Given the description of an element on the screen output the (x, y) to click on. 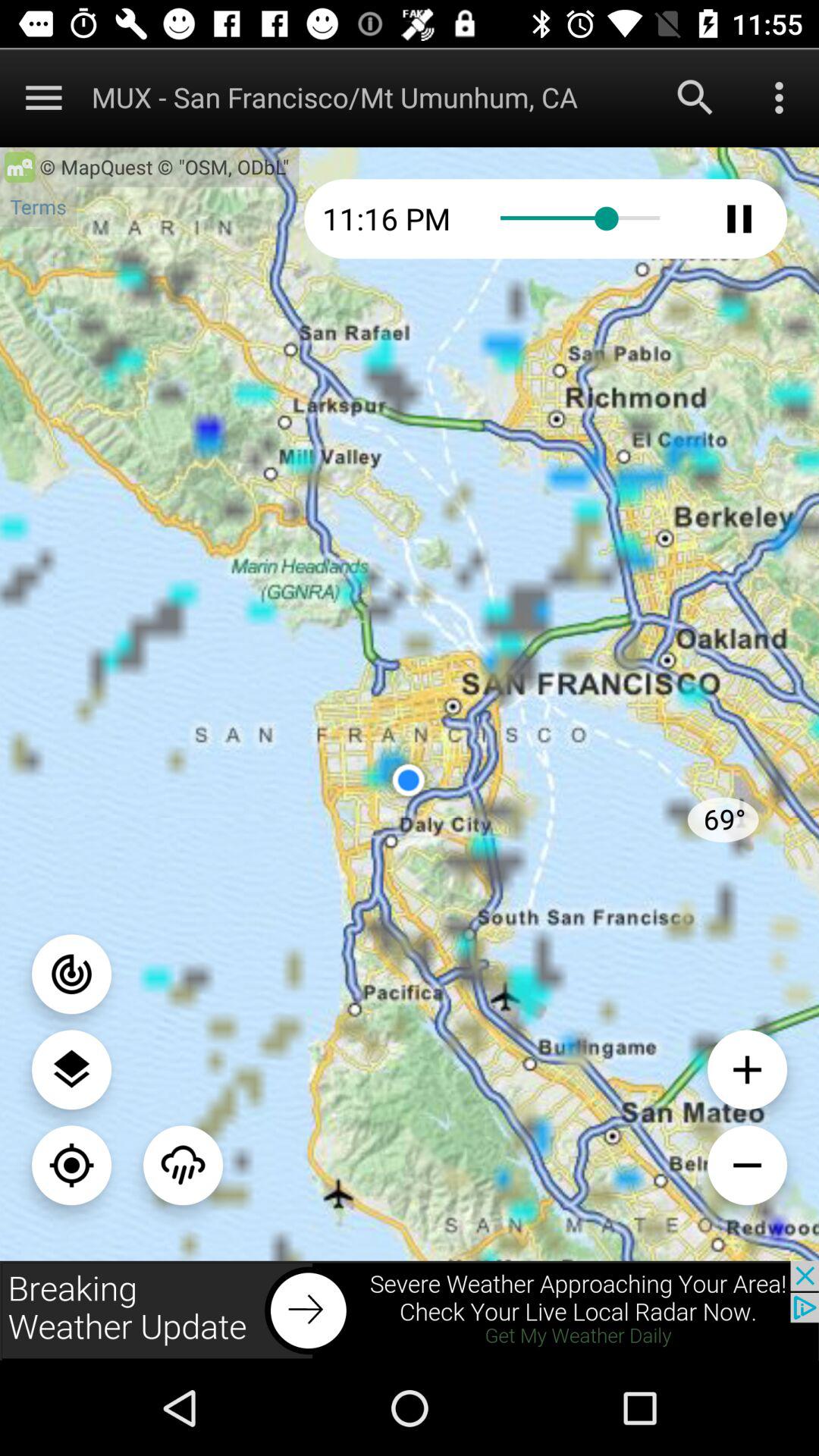
zoom out (747, 1165)
